Given the description of an element on the screen output the (x, y) to click on. 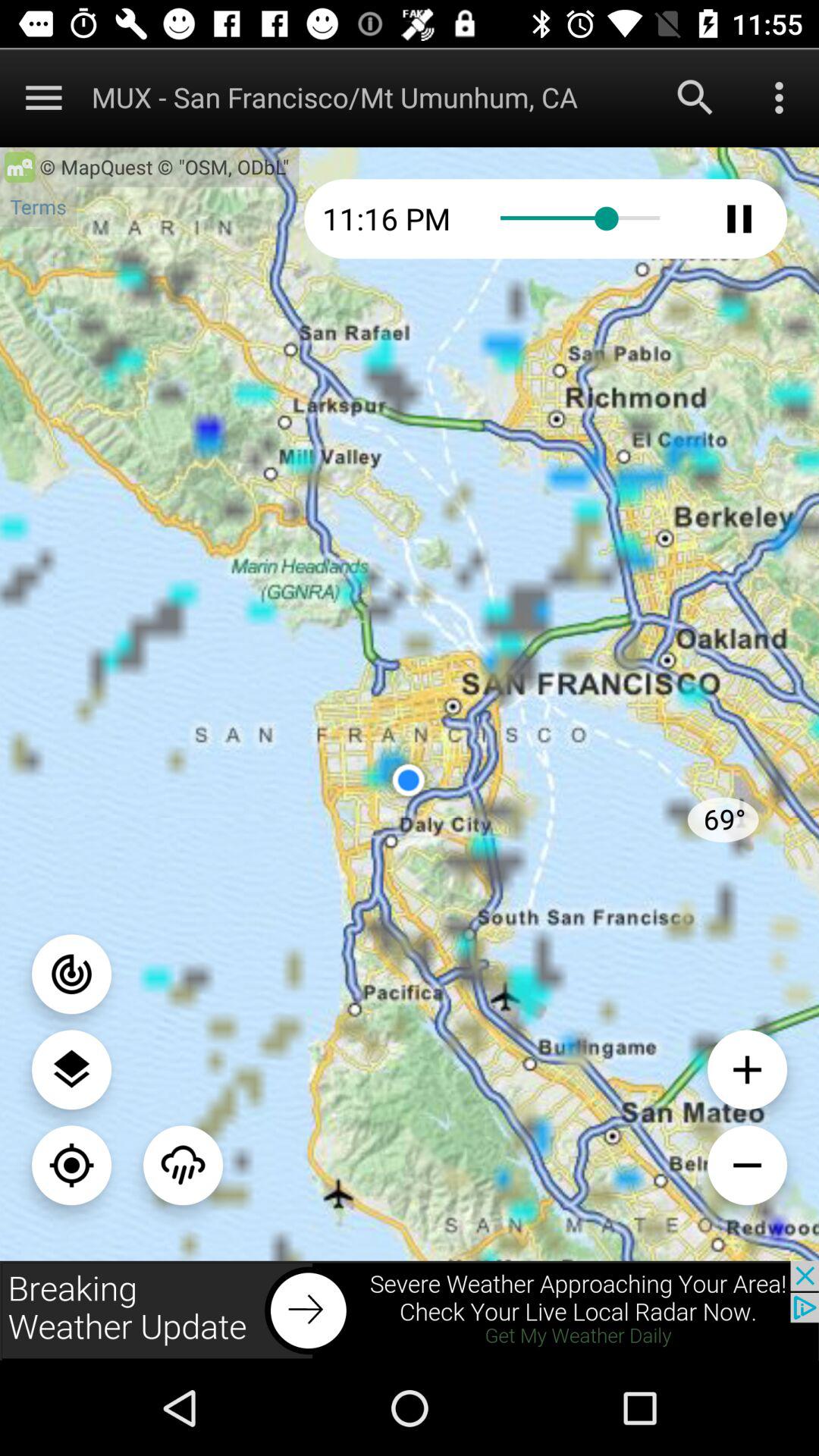
zoom out (747, 1165)
